Given the description of an element on the screen output the (x, y) to click on. 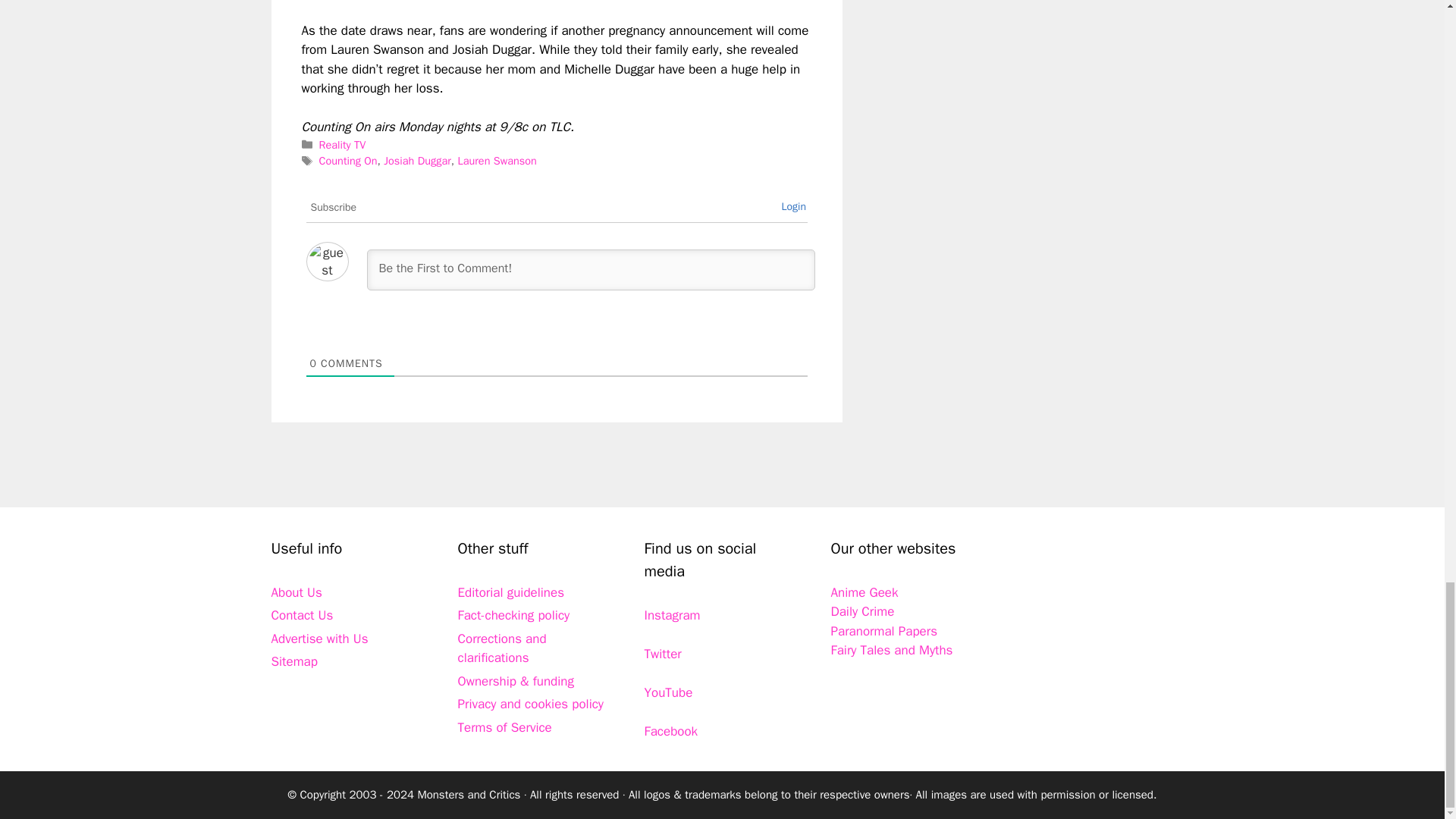
Advertise with Us (319, 638)
Corrections and clarifications (502, 648)
Editorial guidelines (511, 592)
Privacy and cookies policy (531, 703)
Login (793, 205)
Fact-checking policy (514, 615)
Reality TV (342, 144)
Counting On (347, 160)
Josiah Duggar (417, 160)
Sitemap (293, 661)
Contact Us (301, 615)
About Us (295, 592)
Lauren Swanson (496, 160)
